Given the description of an element on the screen output the (x, y) to click on. 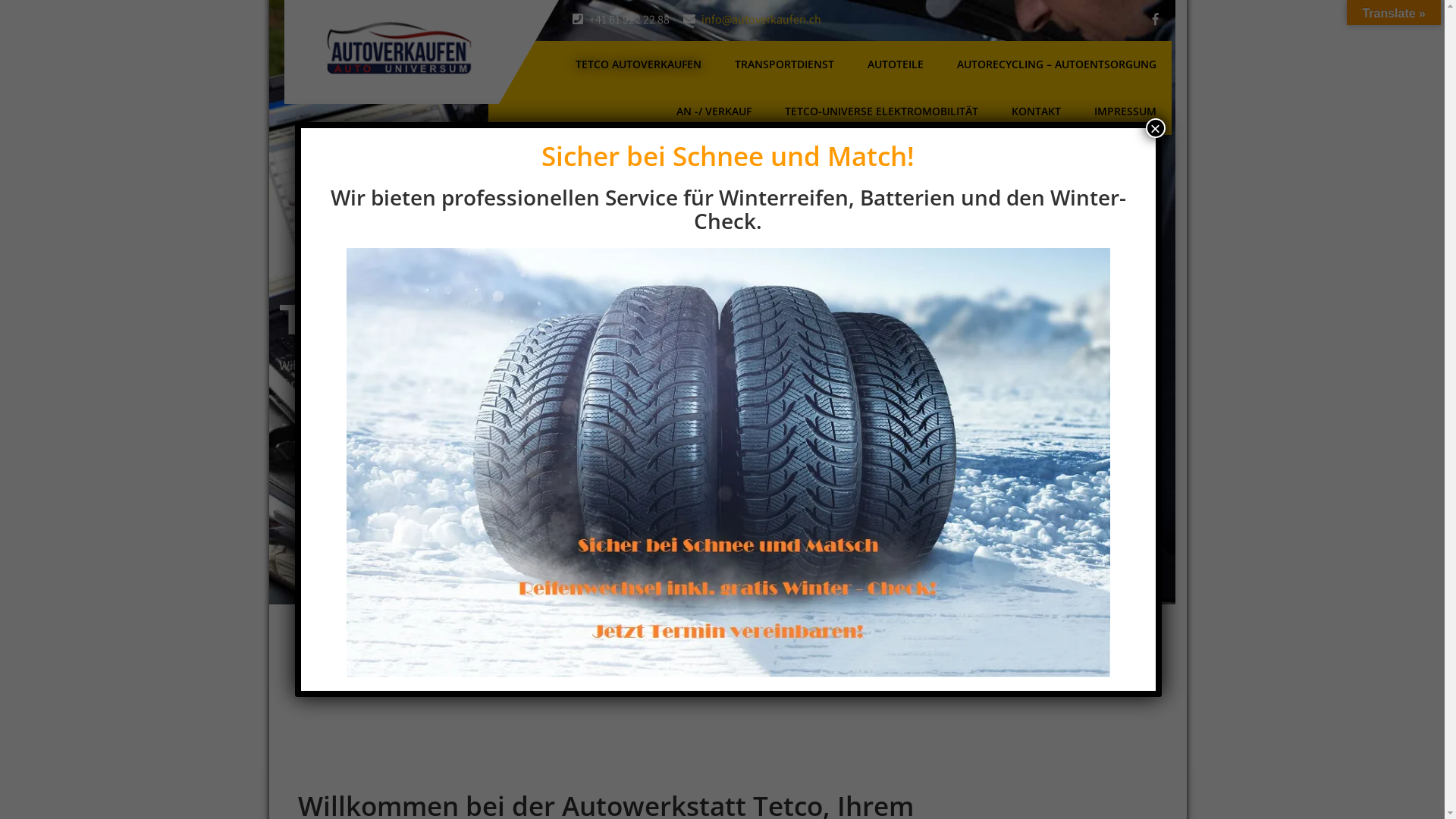
Next Element type: text (1140, 317)
TETCO AUTOVERKAUFEN Element type: text (638, 63)
AUTOTEILE Element type: text (895, 63)
Prev Element type: text (303, 317)
info@autoverkaufen.ch Element type: text (761, 19)
KONTAKT Element type: text (1036, 110)
IMPRESSUM Element type: text (1125, 110)
TRANSPORTDIENST Element type: text (784, 63)
facebook Element type: hover (1155, 19)
AN -/ VERKAUF Element type: text (713, 110)
